Given the description of an element on the screen output the (x, y) to click on. 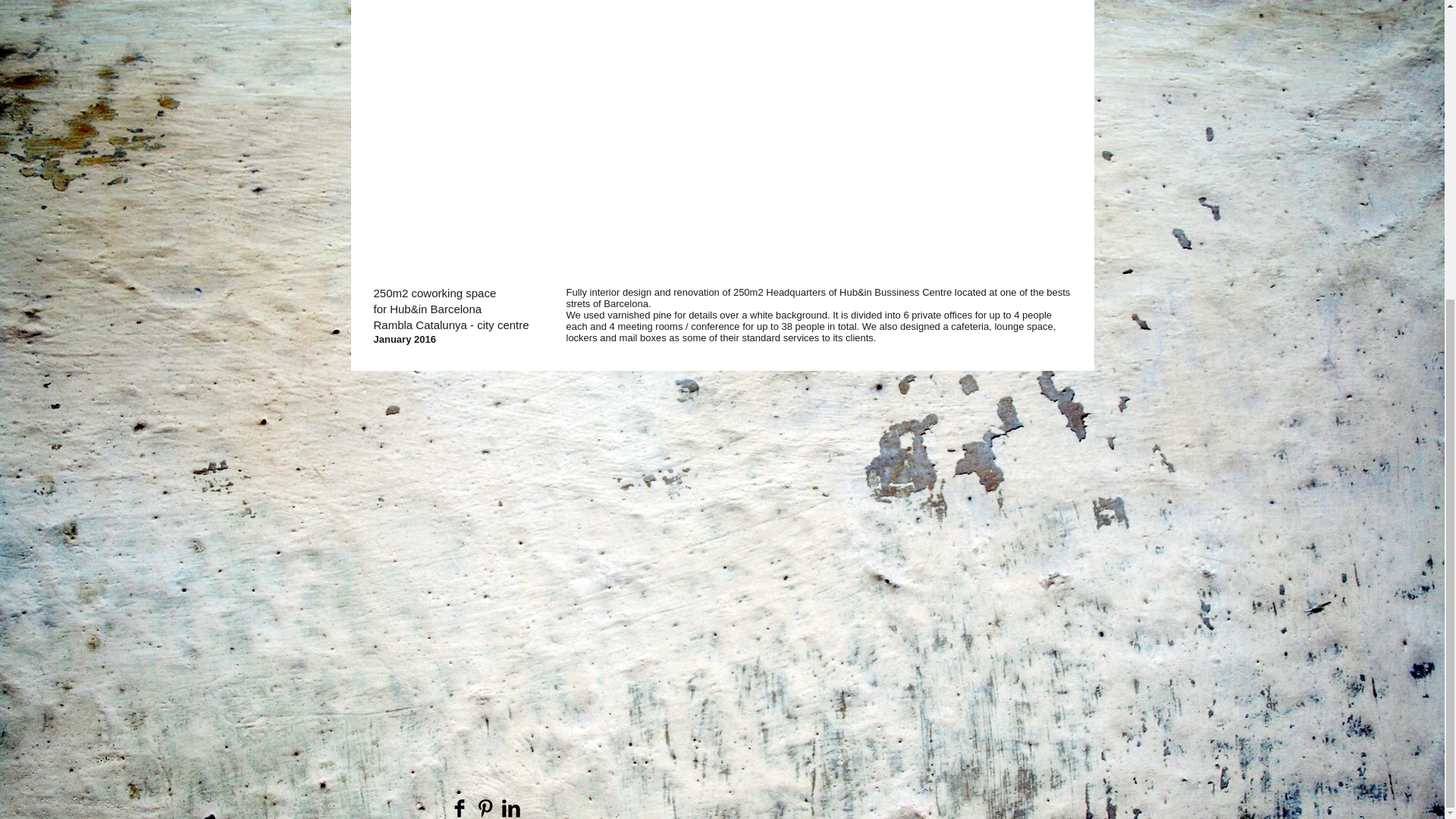
Pin to Pinterest (399, 255)
